Given the description of an element on the screen output the (x, y) to click on. 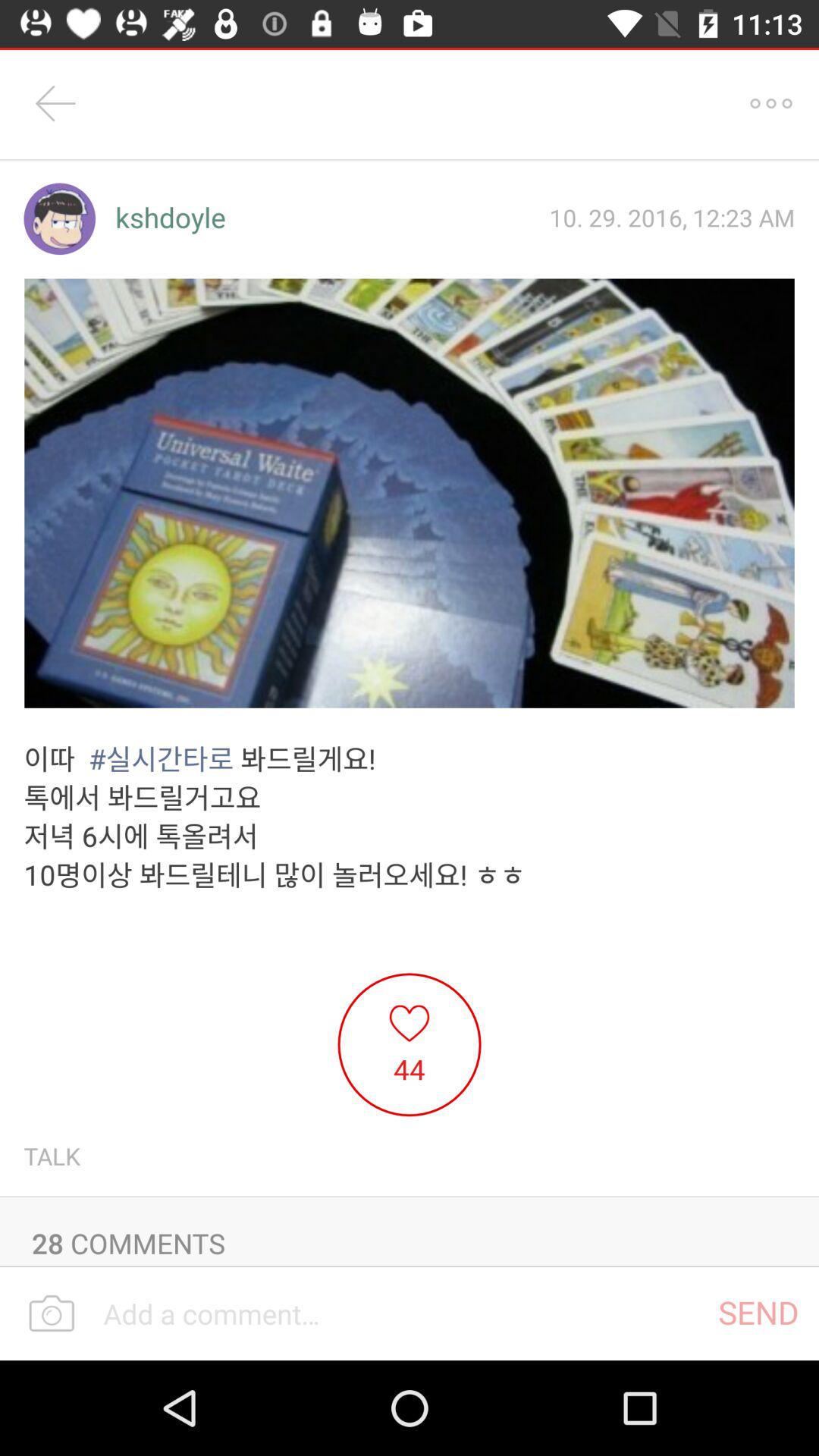
select the icon on the top right corner (771, 103)
click on the first image below the kshdoyle (409, 493)
select kshdoyle (170, 218)
